Given the description of an element on the screen output the (x, y) to click on. 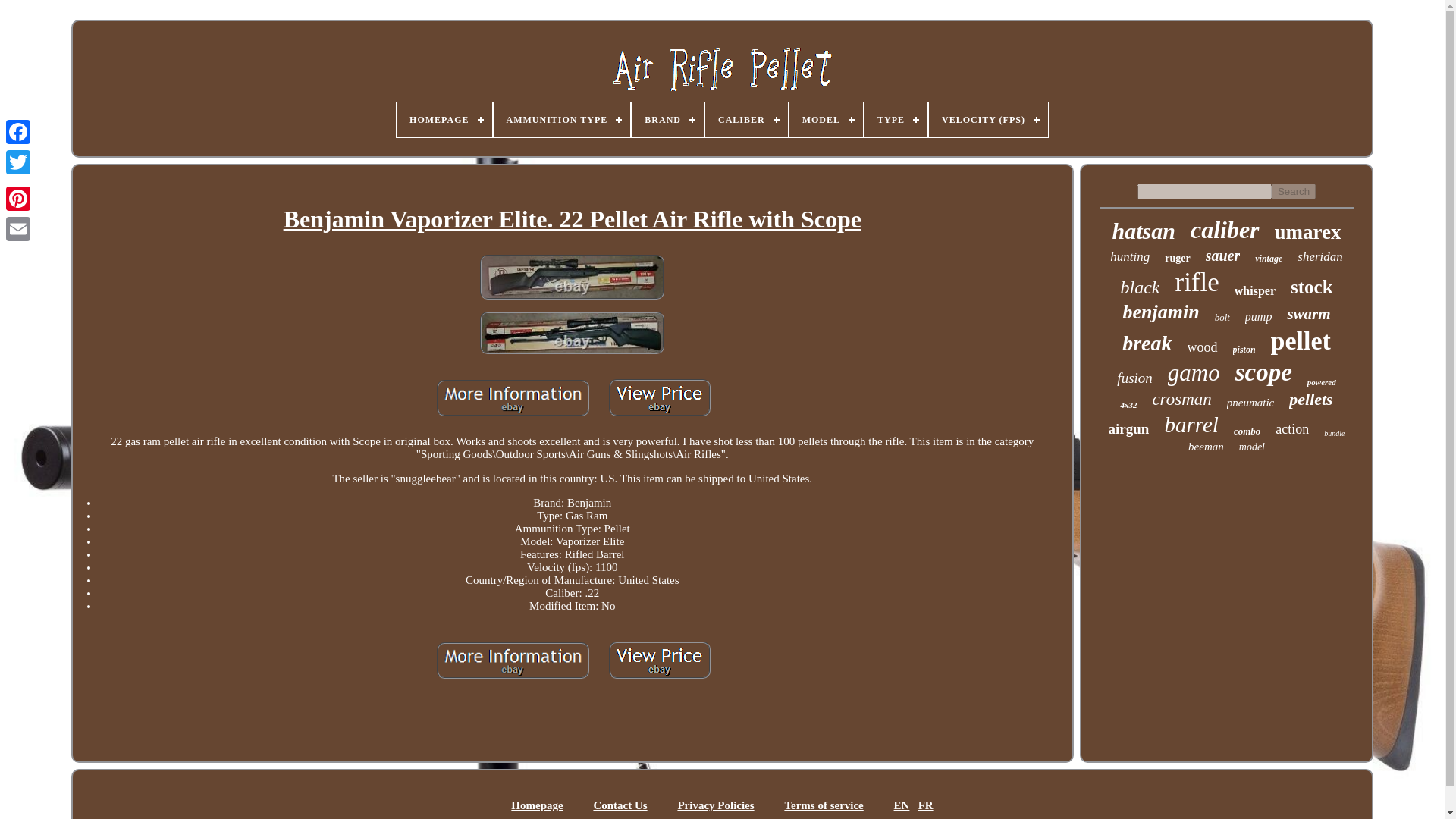
Benjamin Vaporizer Elite. 22 Pellet Air Rifle With Scope (659, 661)
Benjamin Vaporizer Elite. 22 Pellet Air Rifle with Scope (512, 398)
Benjamin Vaporizer Elite. 22 Pellet Air Rifle With Scope (571, 278)
Benjamin Vaporizer Elite. 22 Pellet Air Rifle with Scope (571, 332)
Benjamin Vaporizer Elite. 22 Pellet Air Rifle with Scope (512, 660)
Benjamin Vaporizer Elite. 22 Pellet Air Rifle With Scope (512, 662)
Search (1293, 191)
Benjamin Vaporizer Elite. 22 Pellet Air Rifle with Scope (659, 397)
BRAND (667, 119)
HOMEPAGE (444, 119)
Benjamin Vaporizer Elite. 22 Pellet Air Rifle with Scope (659, 659)
Benjamin Vaporizer Elite. 22 Pellet Air Rifle With Scope (572, 219)
Benjamin Vaporizer Elite. 22 Pellet Air Rifle with Scope (571, 277)
AMMUNITION TYPE (561, 119)
Benjamin Vaporizer Elite. 22 Pellet Air Rifle With Scope (571, 334)
